Given the description of an element on the screen output the (x, y) to click on. 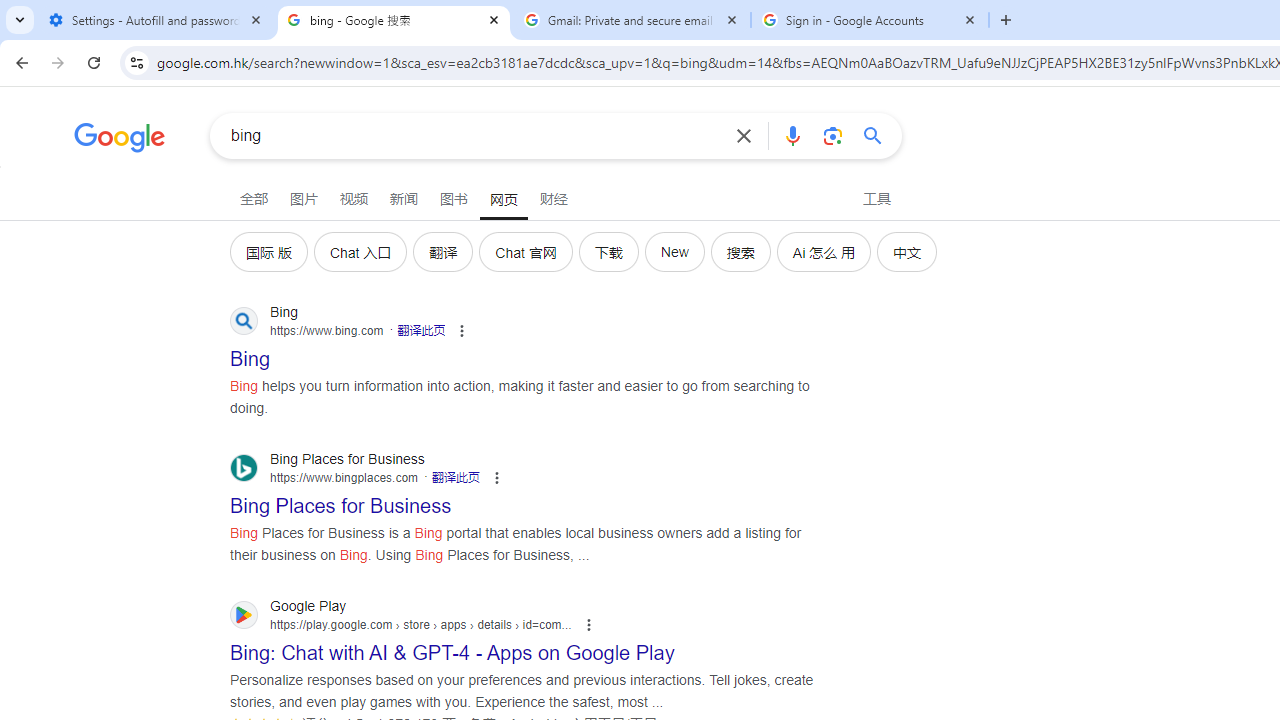
Sign in - Google Accounts (870, 20)
 Bing Bing https://www.bing.com (250, 353)
